Given the description of an element on the screen output the (x, y) to click on. 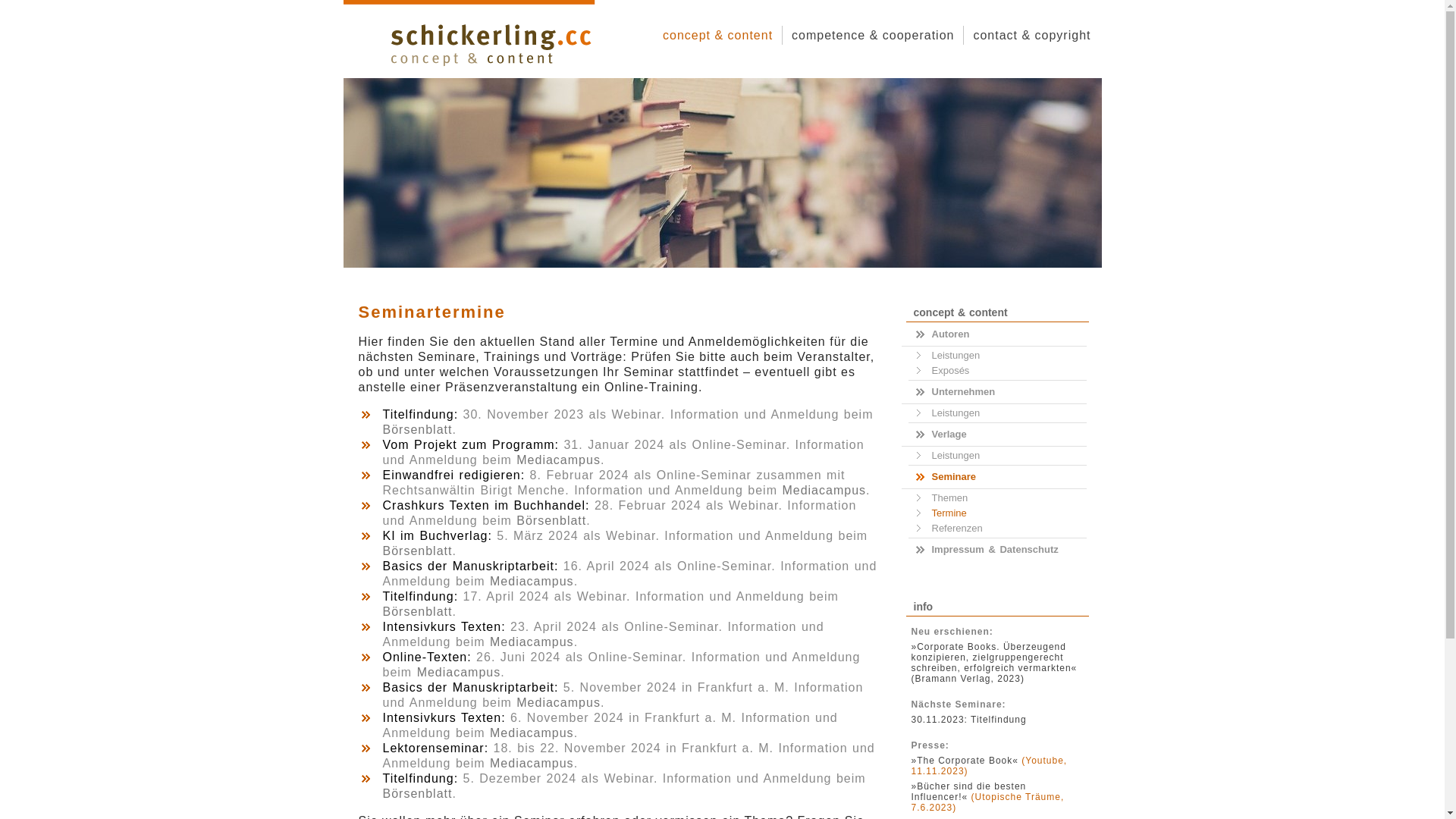
Leistungen Element type: text (992, 355)
competence & cooperation Element type: text (872, 35)
Unternehmen Element type: text (997, 391)
Verlage Element type: text (997, 434)
concept & content Element type: text (717, 35)
Mediacampus Element type: text (558, 459)
Leistungen Element type: text (992, 412)
Impressum & Datenschutz Element type: text (997, 549)
Termine Element type: text (992, 512)
Mediacampus Element type: text (531, 641)
Themen Element type: text (992, 497)
contact & copyright Element type: text (1031, 35)
Mediacampus Element type: text (531, 732)
Mediacampus Element type: text (531, 580)
Mediacampus Element type: text (823, 489)
schickerling-cc-logo Element type: hover (489, 44)
Mediacampus Element type: text (459, 671)
Referenzen Element type: text (992, 528)
(Youtube, 11.11.2023) Element type: text (989, 765)
Mediacampus Element type: text (558, 702)
Autoren Element type: text (997, 334)
Seminare Element type: text (997, 476)
Mediacampus Element type: text (531, 762)
Leistungen Element type: text (992, 455)
